Given the description of an element on the screen output the (x, y) to click on. 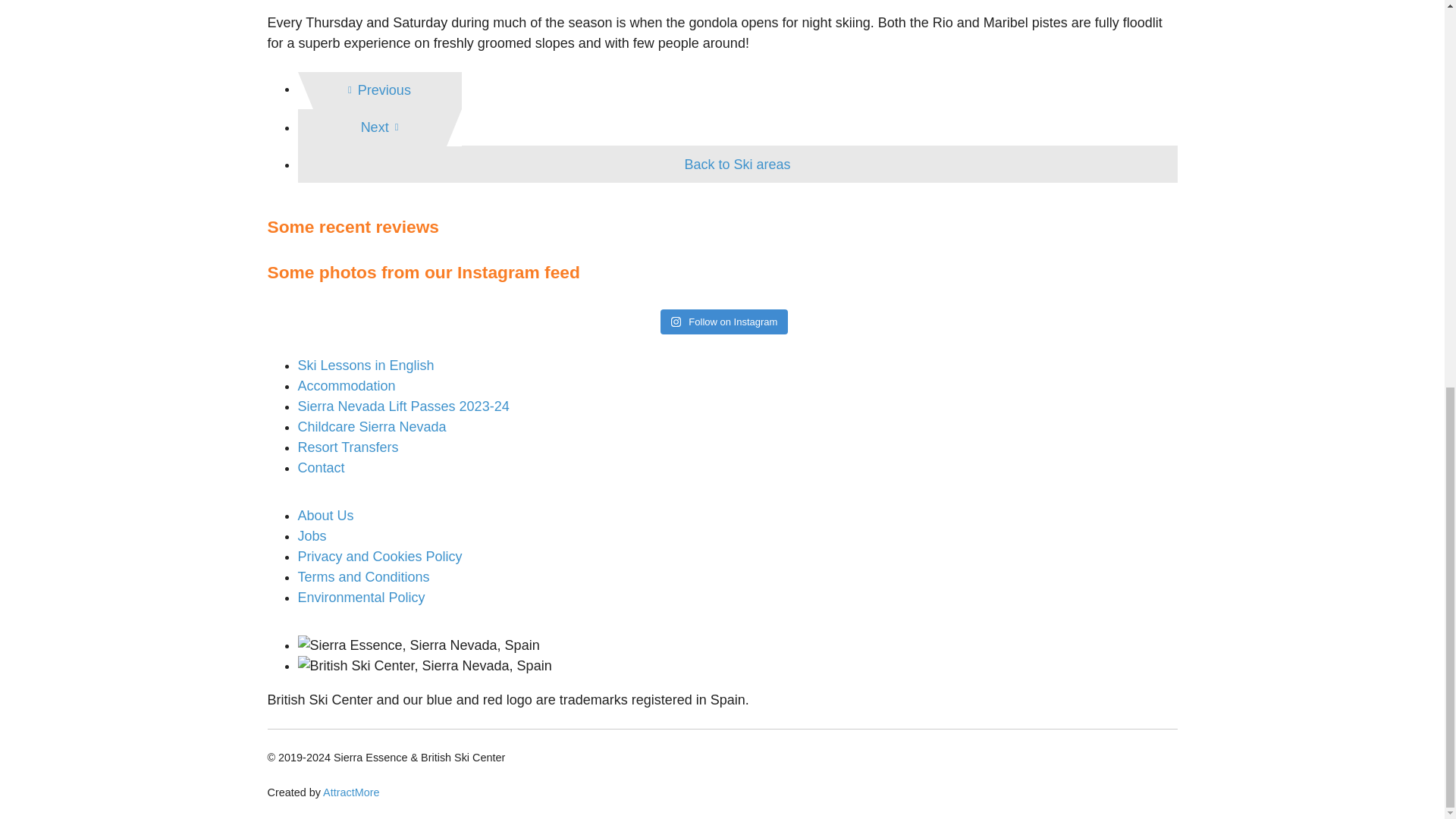
AttractMore (350, 792)
Terms and Conditions (363, 576)
Follow on Instagram (725, 321)
Environmental Policy (361, 597)
Next (379, 127)
Back to Ski areas (736, 163)
Previous (379, 90)
Jobs (311, 535)
Resort Transfers (347, 447)
Ski Lessons in English (365, 365)
